Given the description of an element on the screen output the (x, y) to click on. 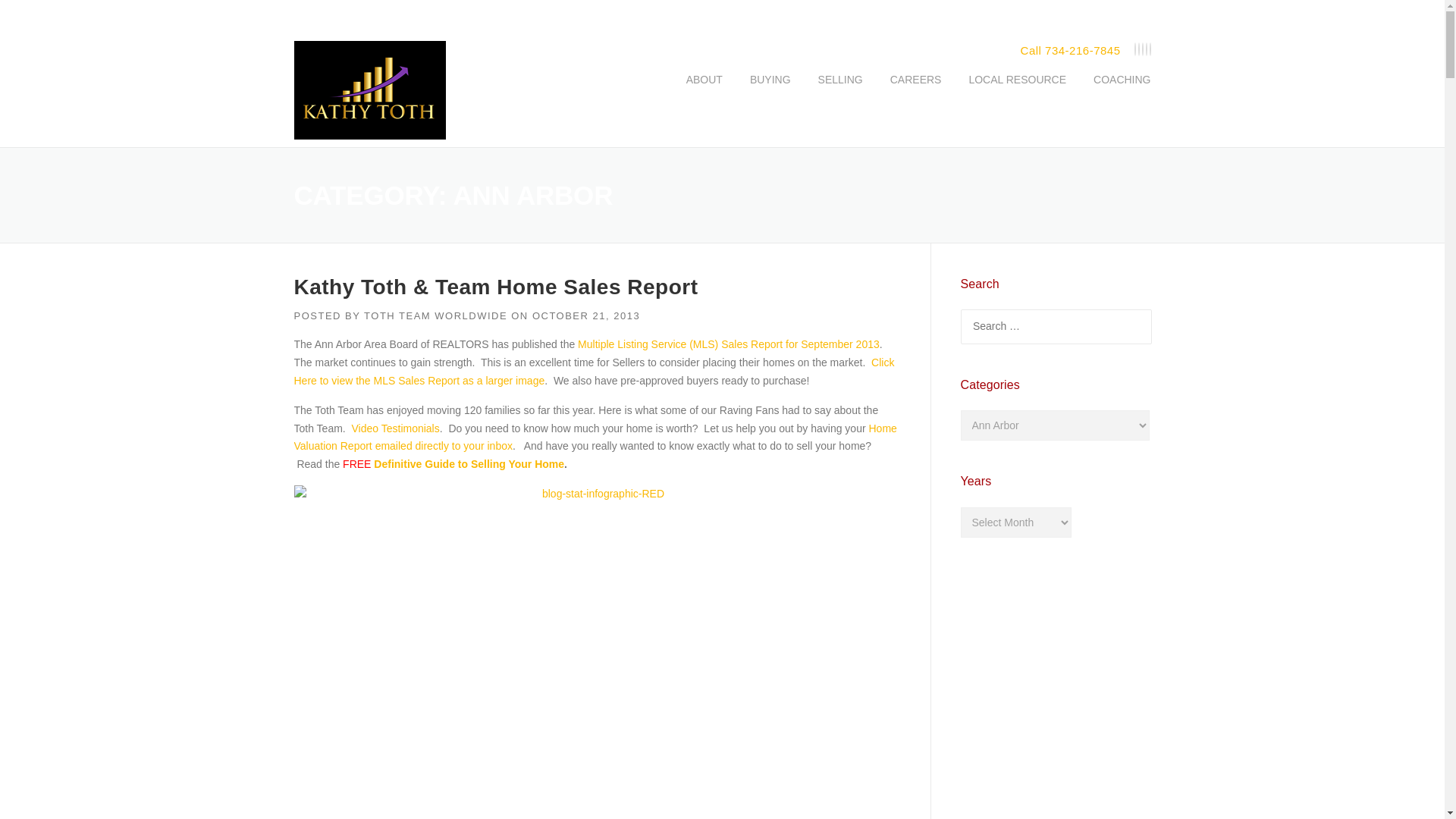
BUYING (770, 91)
ABOUT (704, 91)
Free Definitive Guide to Selling Your Home (469, 463)
CAREERS (915, 91)
Raving Fans Page (395, 428)
SELLING (840, 91)
Ann Arbor Area Board of REALTORS MLS Sales Report (594, 371)
kathytoth.com (369, 92)
How Much Is My Home Worth? (595, 437)
